Given the description of an element on the screen output the (x, y) to click on. 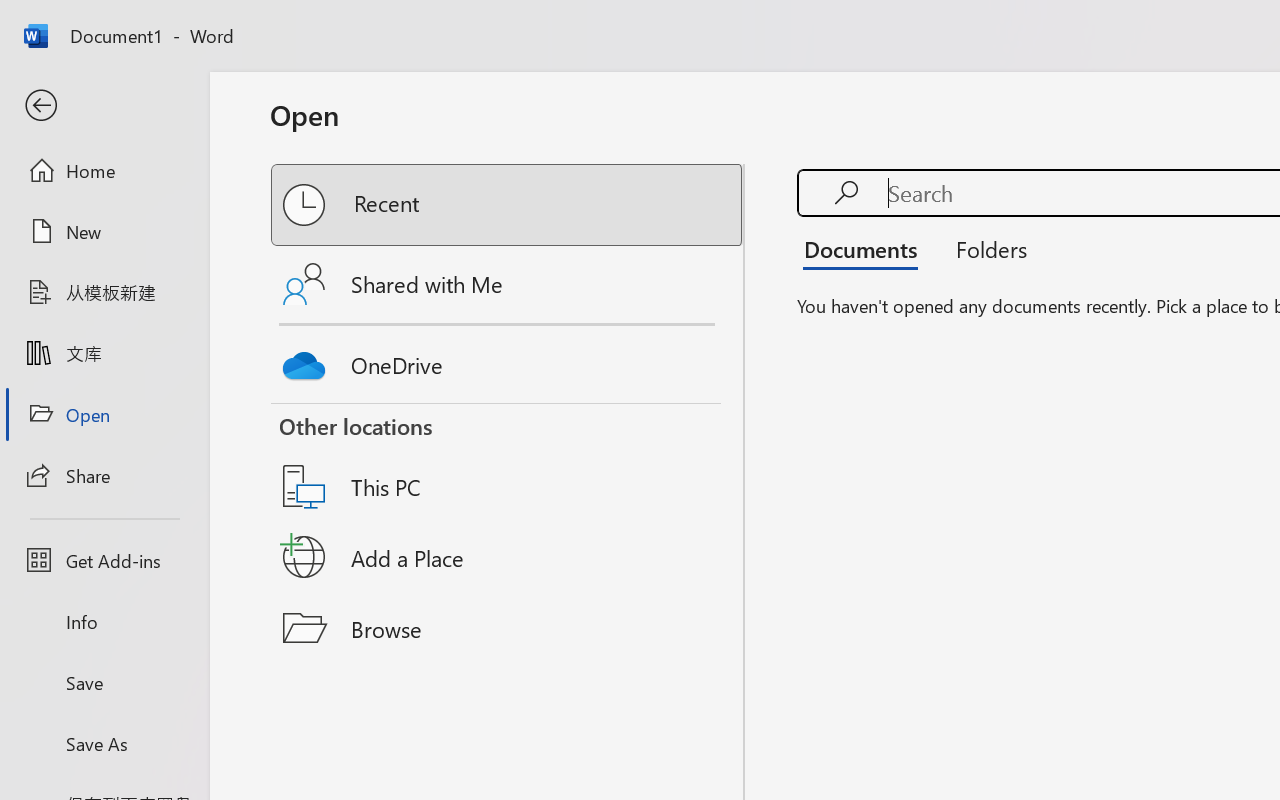
New (104, 231)
Get Add-ins (104, 560)
This PC (507, 461)
Save As (104, 743)
Add a Place (507, 557)
OneDrive (507, 359)
Info (104, 621)
Browse (507, 627)
Shared with Me (507, 283)
Folders (984, 248)
